Given the description of an element on the screen output the (x, y) to click on. 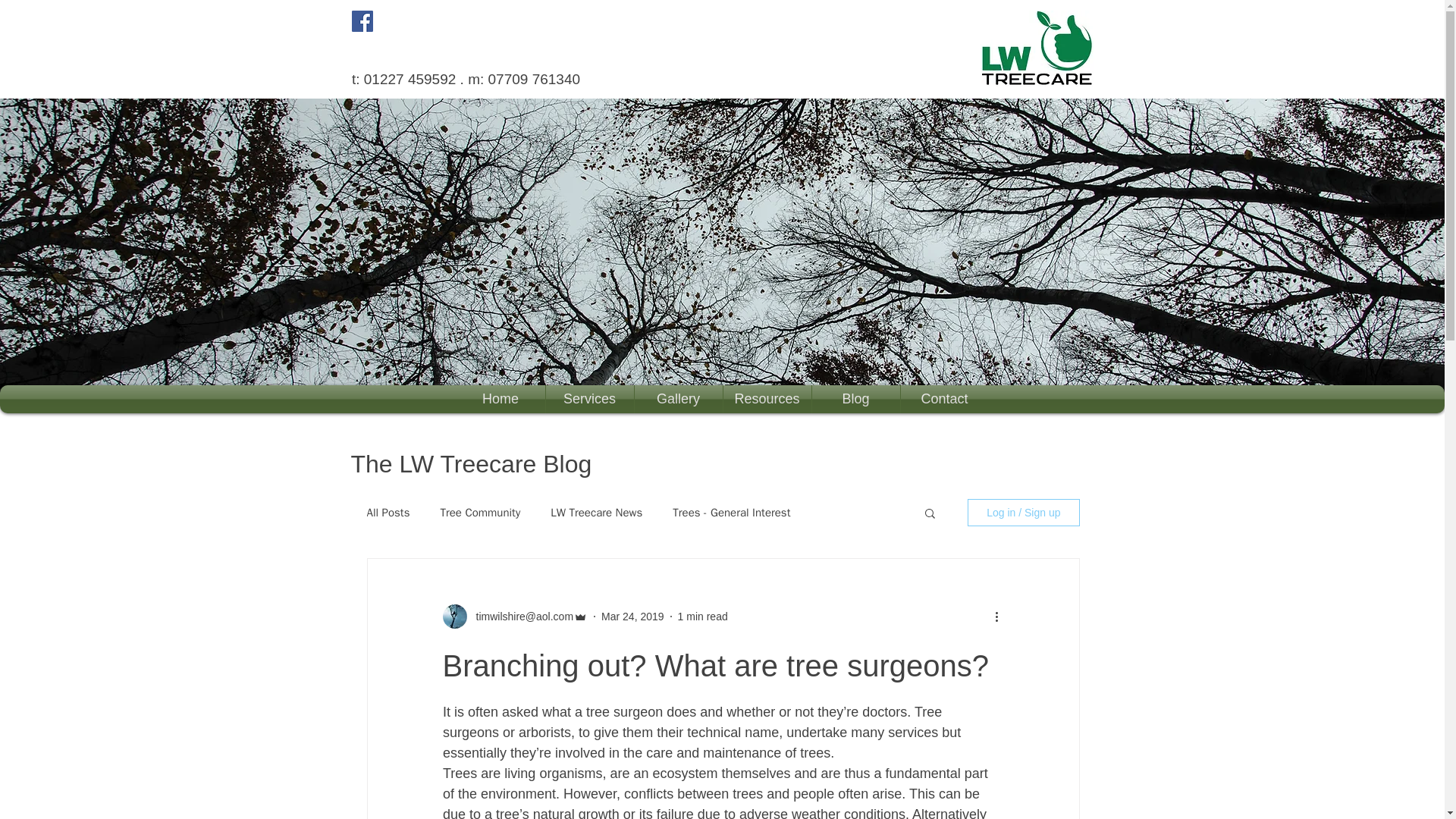
All Posts (388, 512)
Home (500, 398)
LW Treecare News (596, 512)
Tree Community (479, 512)
Services (589, 398)
1 min read (703, 615)
Mar 24, 2019 (632, 615)
Trees - General Interest (731, 512)
Gallery (677, 398)
